Given the description of an element on the screen output the (x, y) to click on. 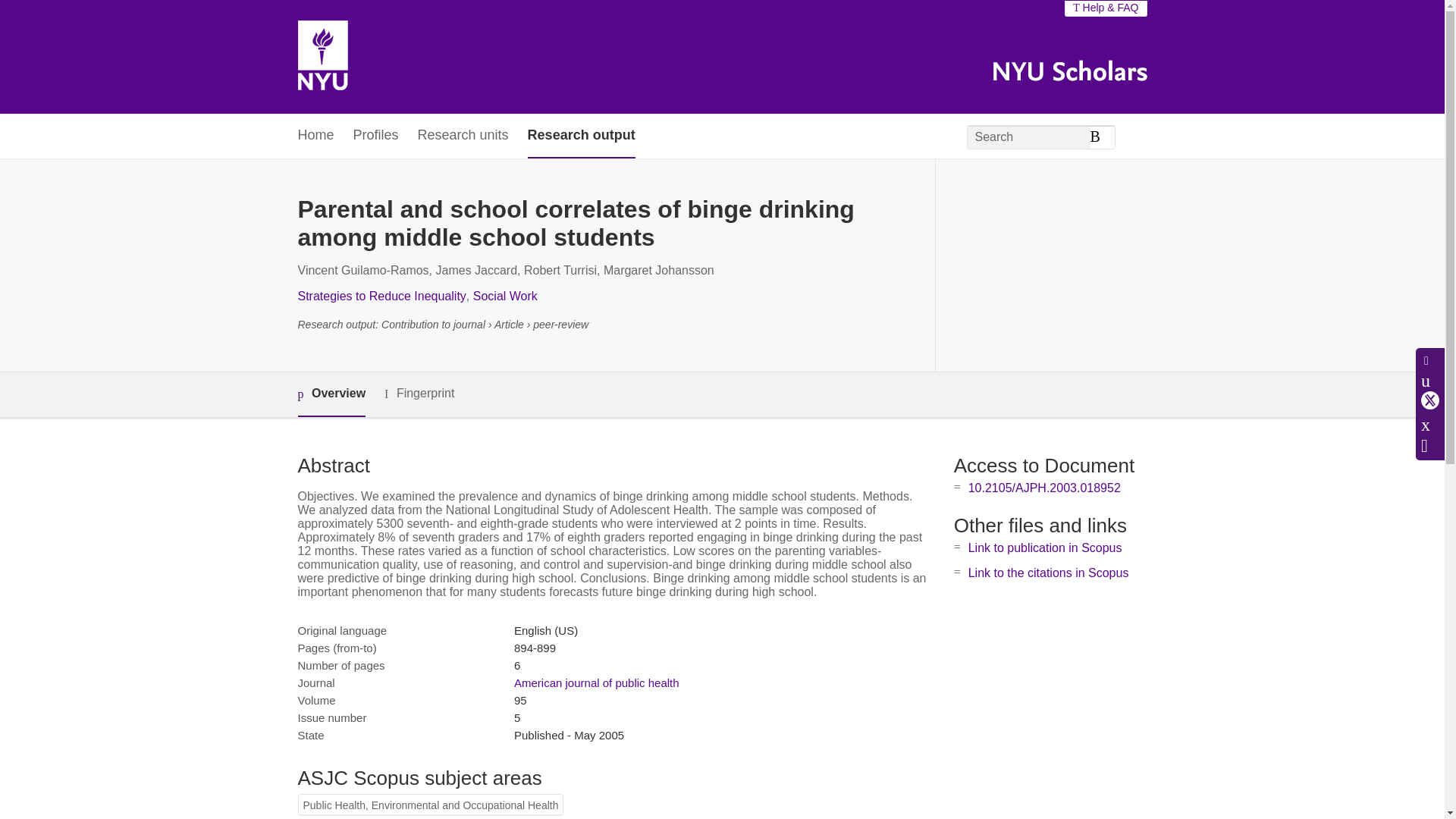
Strategies to Reduce Inequality (381, 295)
Fingerprint (419, 393)
Link to publication in Scopus (1045, 547)
NYU Scholars Home (322, 56)
Research output (580, 135)
Overview (331, 394)
Home (315, 135)
Profiles (375, 135)
Social Work (505, 295)
American journal of public health (596, 682)
Link to the citations in Scopus (1048, 572)
Research units (462, 135)
